Given the description of an element on the screen output the (x, y) to click on. 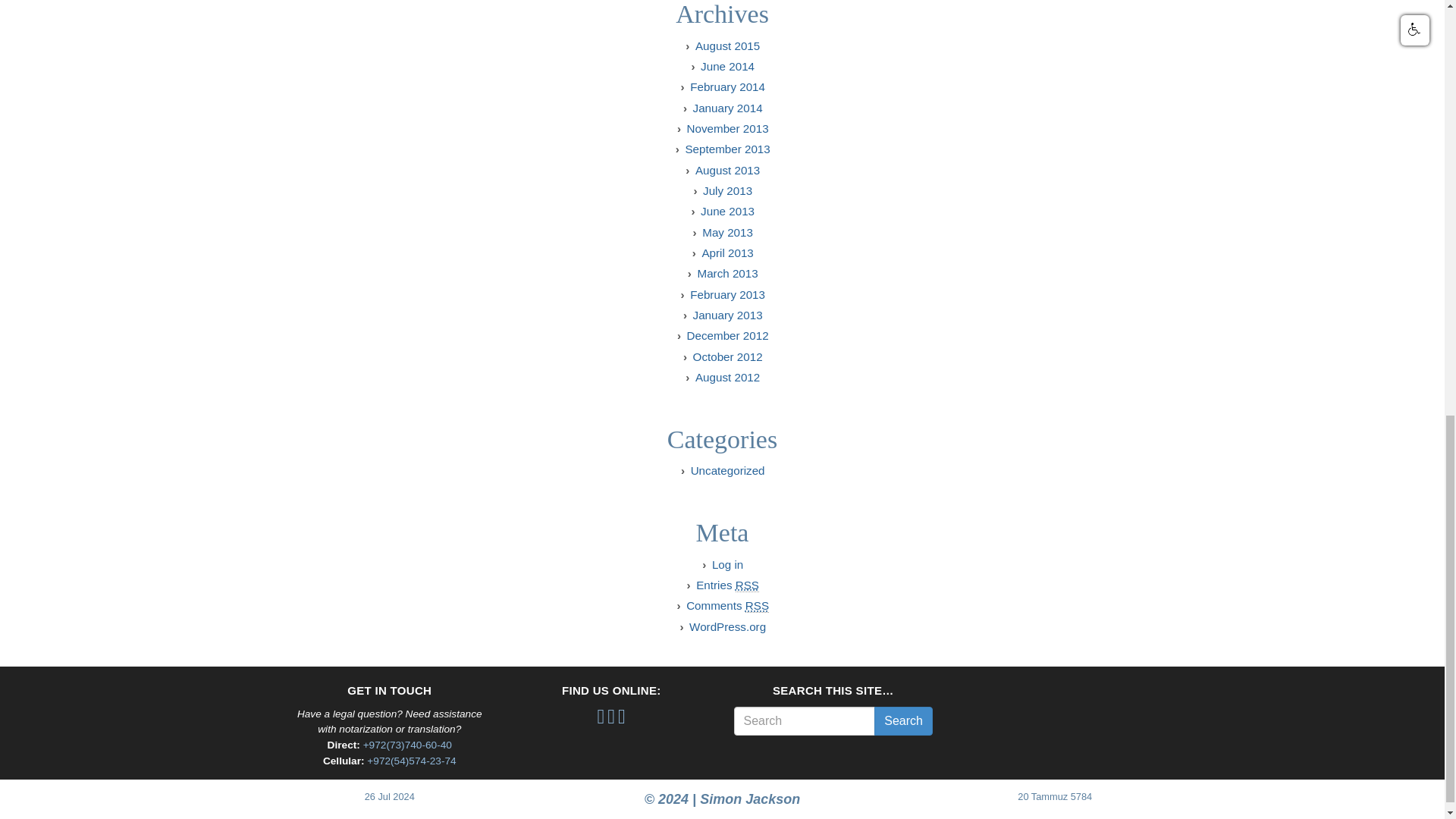
February 2013 (727, 294)
Really Simple Syndication (746, 585)
June 2014 (727, 65)
January 2014 (727, 107)
April 2013 (726, 252)
February 2014 (727, 86)
May 2013 (726, 232)
June 2013 (727, 210)
January 2013 (727, 314)
Really Simple Syndication (756, 605)
August 2013 (727, 169)
August 2015 (727, 45)
March 2013 (727, 273)
July 2013 (727, 190)
